Given the description of an element on the screen output the (x, y) to click on. 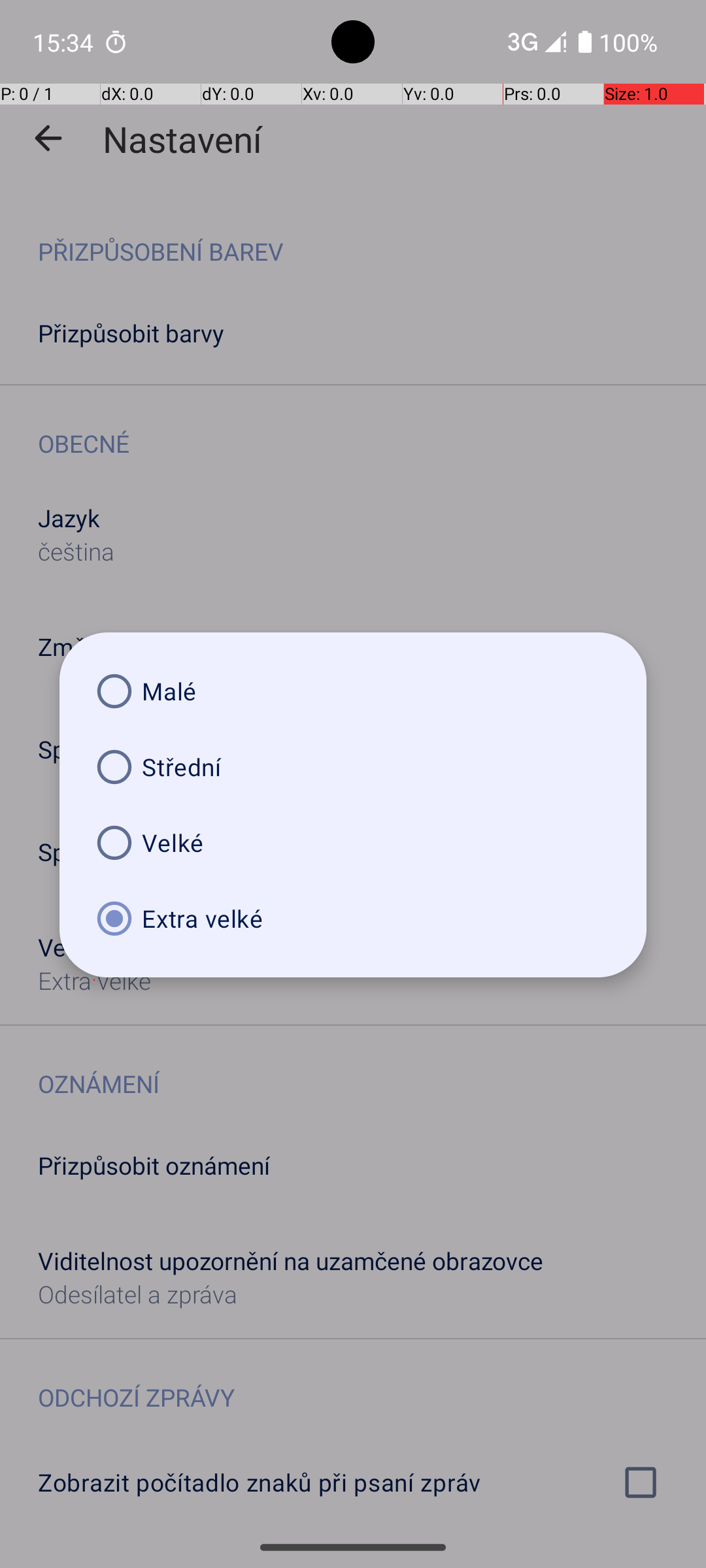
Malé Element type: android.widget.RadioButton (352, 691)
Střední Element type: android.widget.RadioButton (352, 766)
Velké Element type: android.widget.RadioButton (352, 842)
Extra velké Element type: android.widget.RadioButton (352, 918)
